Given the description of an element on the screen output the (x, y) to click on. 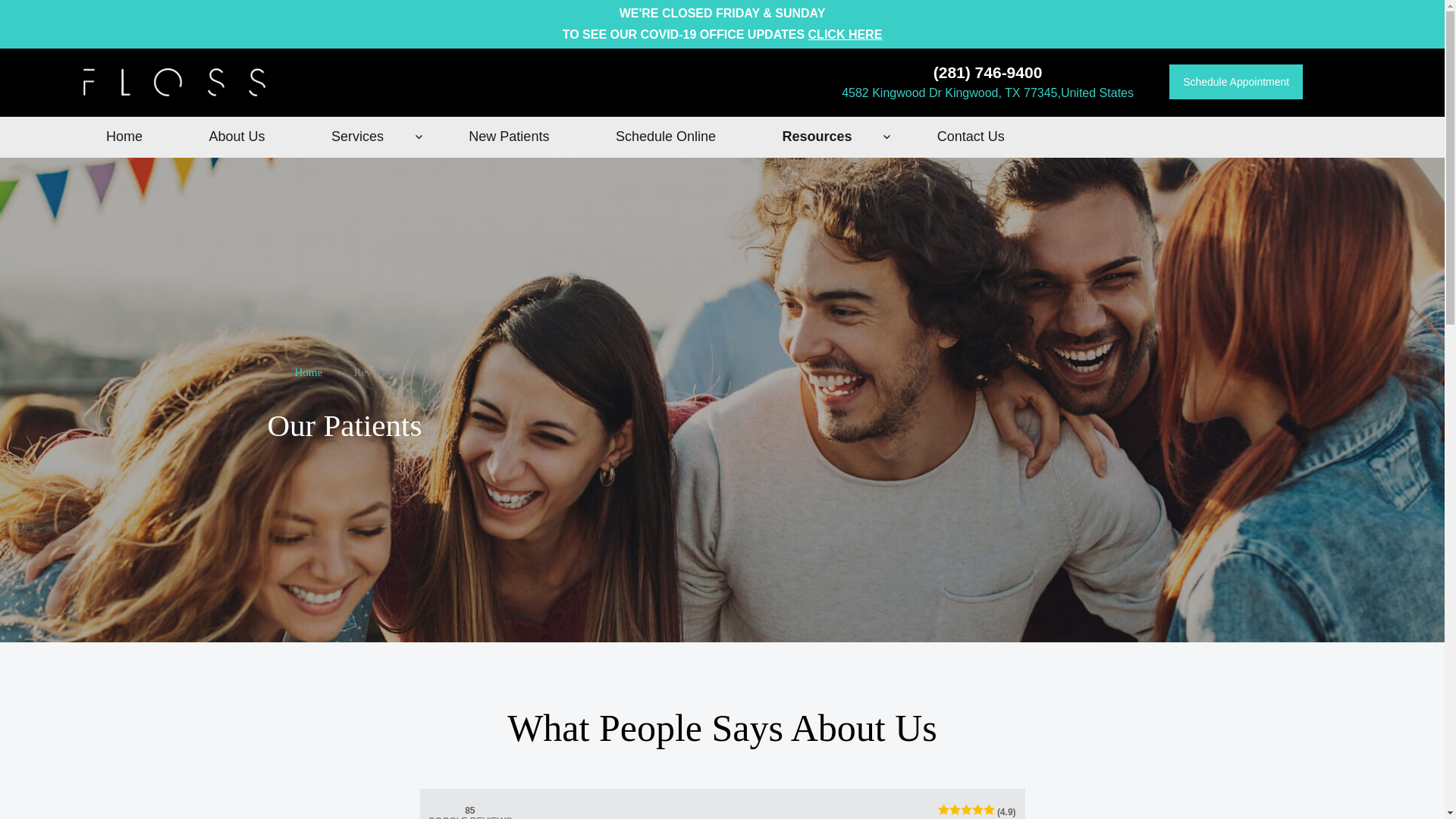
Home (308, 372)
4582 Kingwood Dr Kingwood, TX 77345,United States (987, 92)
Schedule Appointment (1236, 81)
About Us (237, 136)
Schedule Online (666, 136)
Reviews (373, 372)
Services (365, 136)
Home (124, 136)
Reviews (373, 372)
Resources (826, 136)
Home (308, 372)
Contact Us (970, 136)
CLICK HERE (845, 33)
New Patients (509, 136)
